Given the description of an element on the screen output the (x, y) to click on. 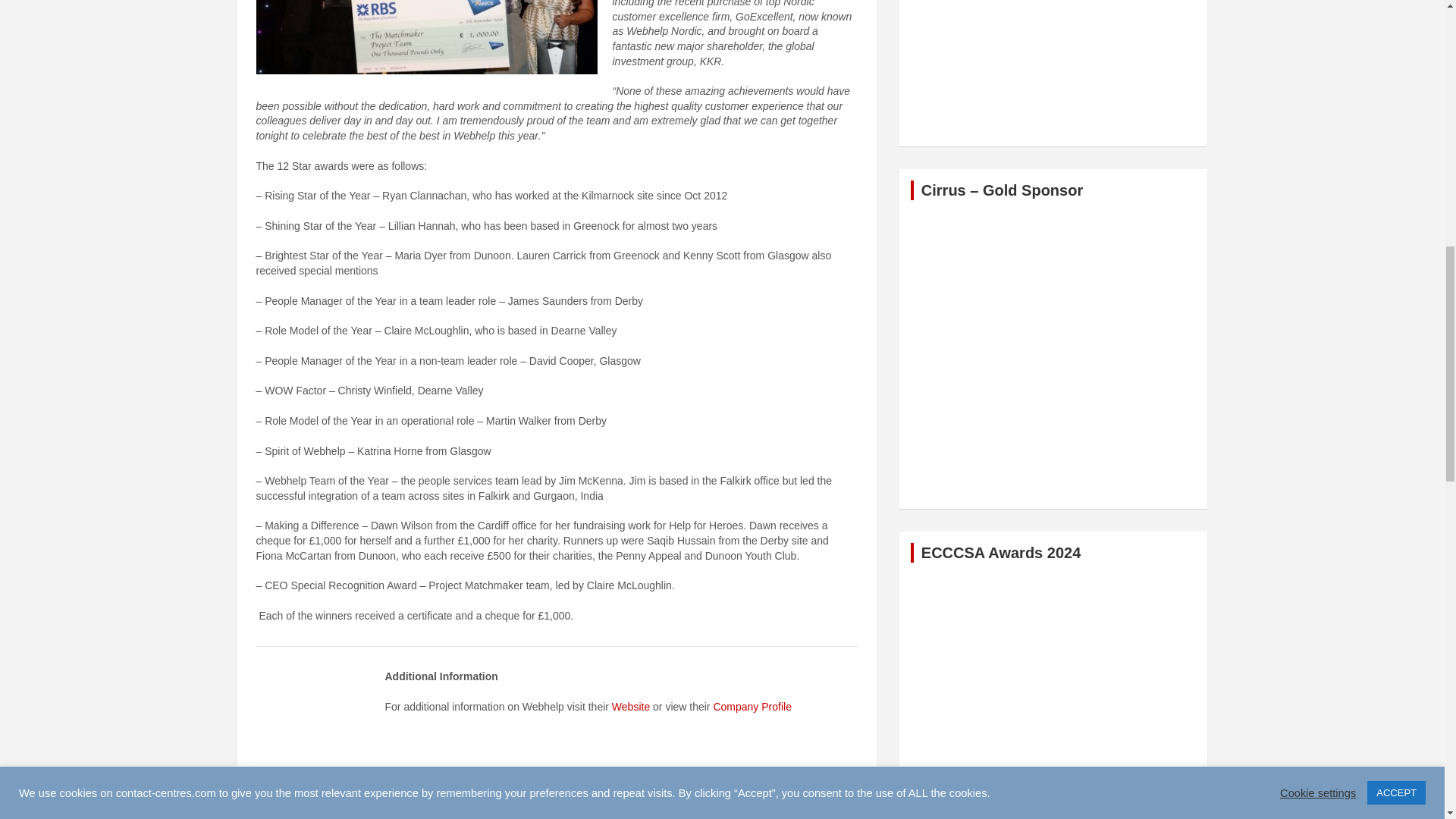
Print (725, 792)
LinkedIn (569, 792)
Facebook (395, 792)
Company Profile (752, 706)
Email (651, 792)
Twitter (484, 792)
Website (631, 706)
